Given the description of an element on the screen output the (x, y) to click on. 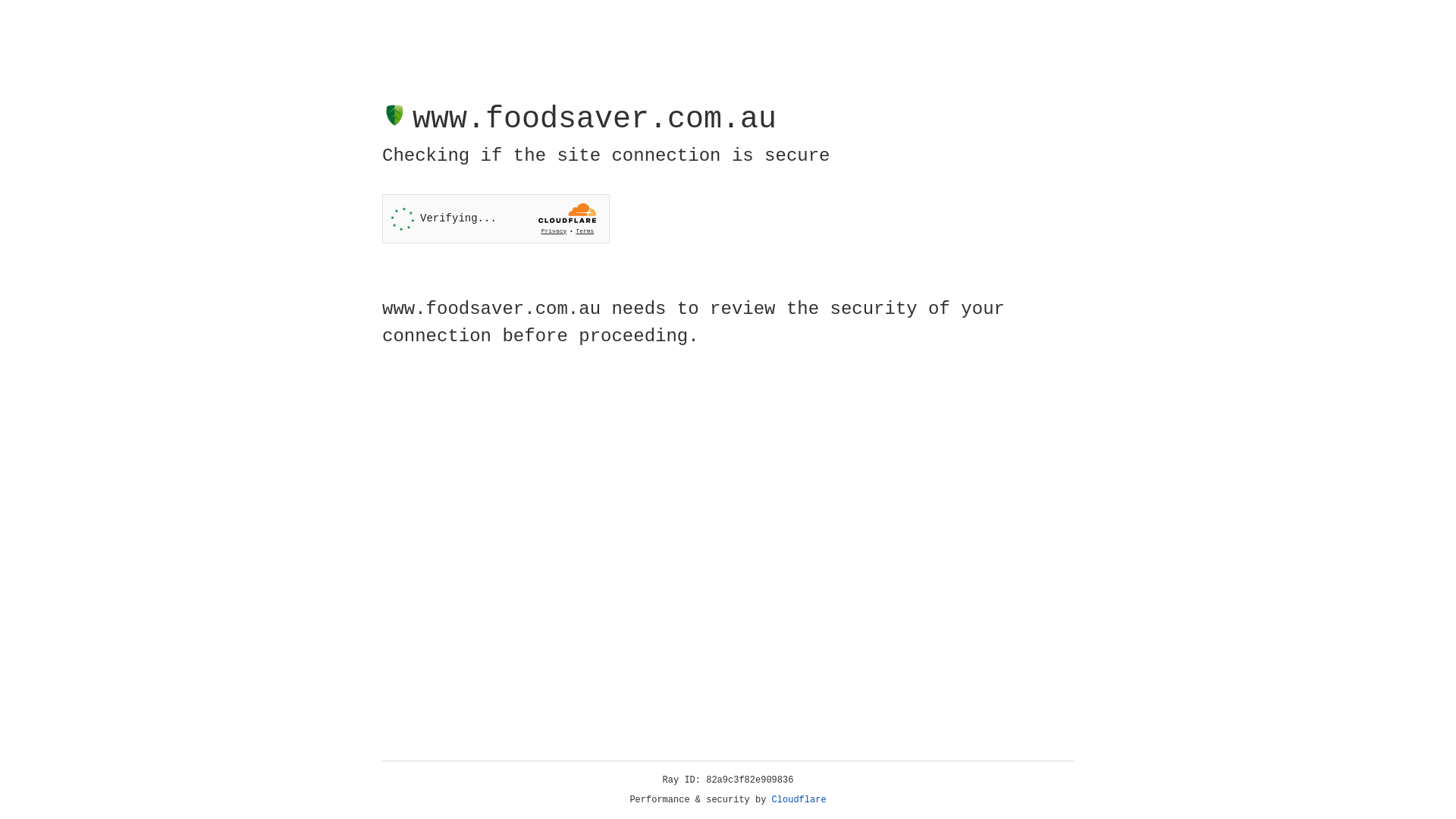
Widget containing a Cloudflare security challenge Element type: hover (495, 218)
Cloudflare Element type: text (798, 799)
